Given the description of an element on the screen output the (x, y) to click on. 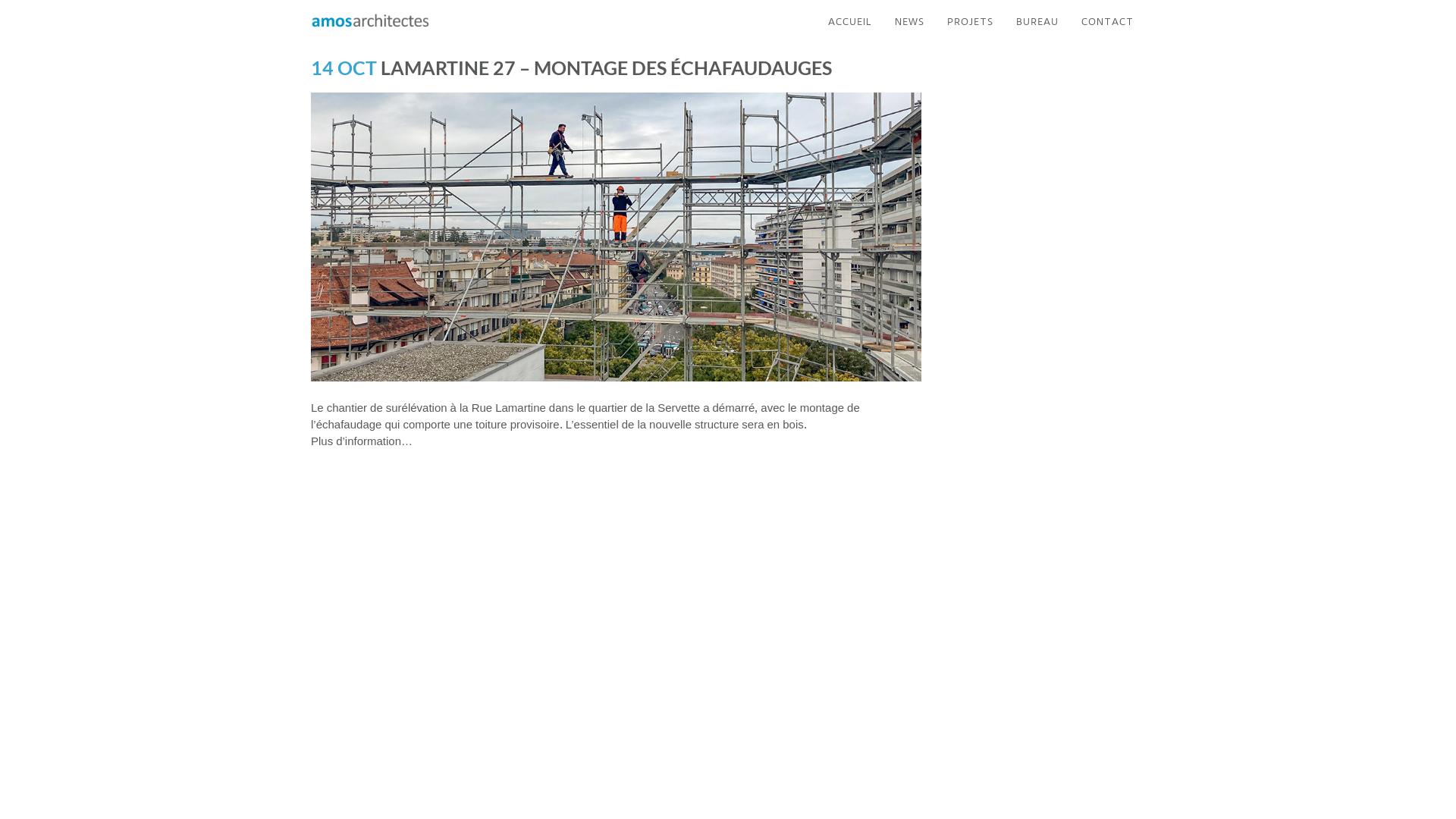
ACCUEIL Element type: text (849, 21)
CONTACT Element type: text (1107, 21)
BUREAU Element type: text (1037, 21)
NEWS Element type: text (909, 21)
PROJETS Element type: text (969, 21)
